Given the description of an element on the screen output the (x, y) to click on. 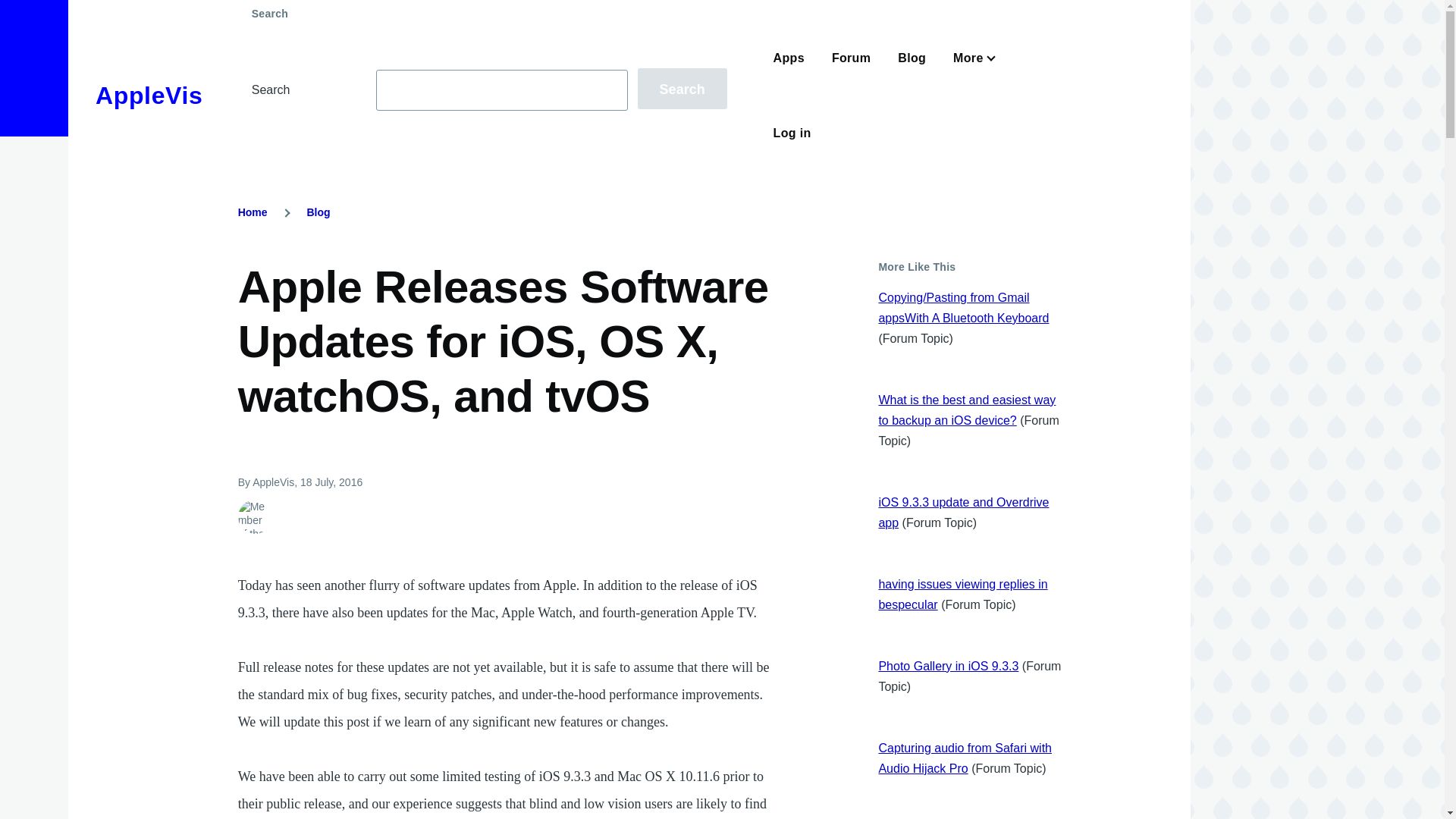
Search (681, 87)
iOS 9.3.3 update and Overdrive app (962, 512)
Photo Gallery in iOS 9.3.3 (947, 666)
Home (252, 212)
Search (681, 87)
Blog (317, 212)
What is the best and easiest way to backup an iOS device? (966, 409)
AppleVis (149, 94)
Home (149, 94)
Skip to main content (595, 6)
